Given the description of an element on the screen output the (x, y) to click on. 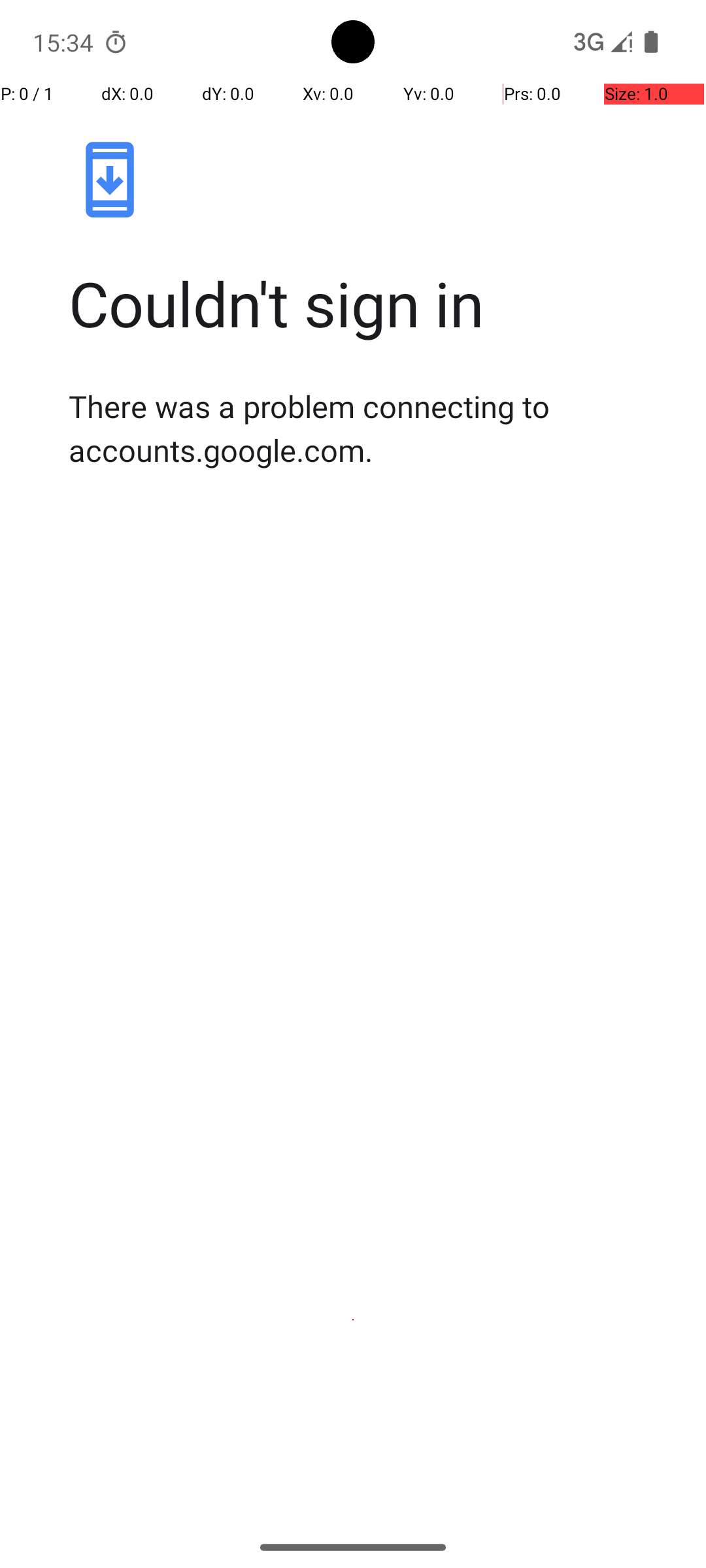
Couldn't sign in Element type: android.widget.TextView (366, 302)
There was a problem connecting to accounts.google.com. Element type: android.widget.TextView (366, 427)
